Given the description of an element on the screen output the (x, y) to click on. 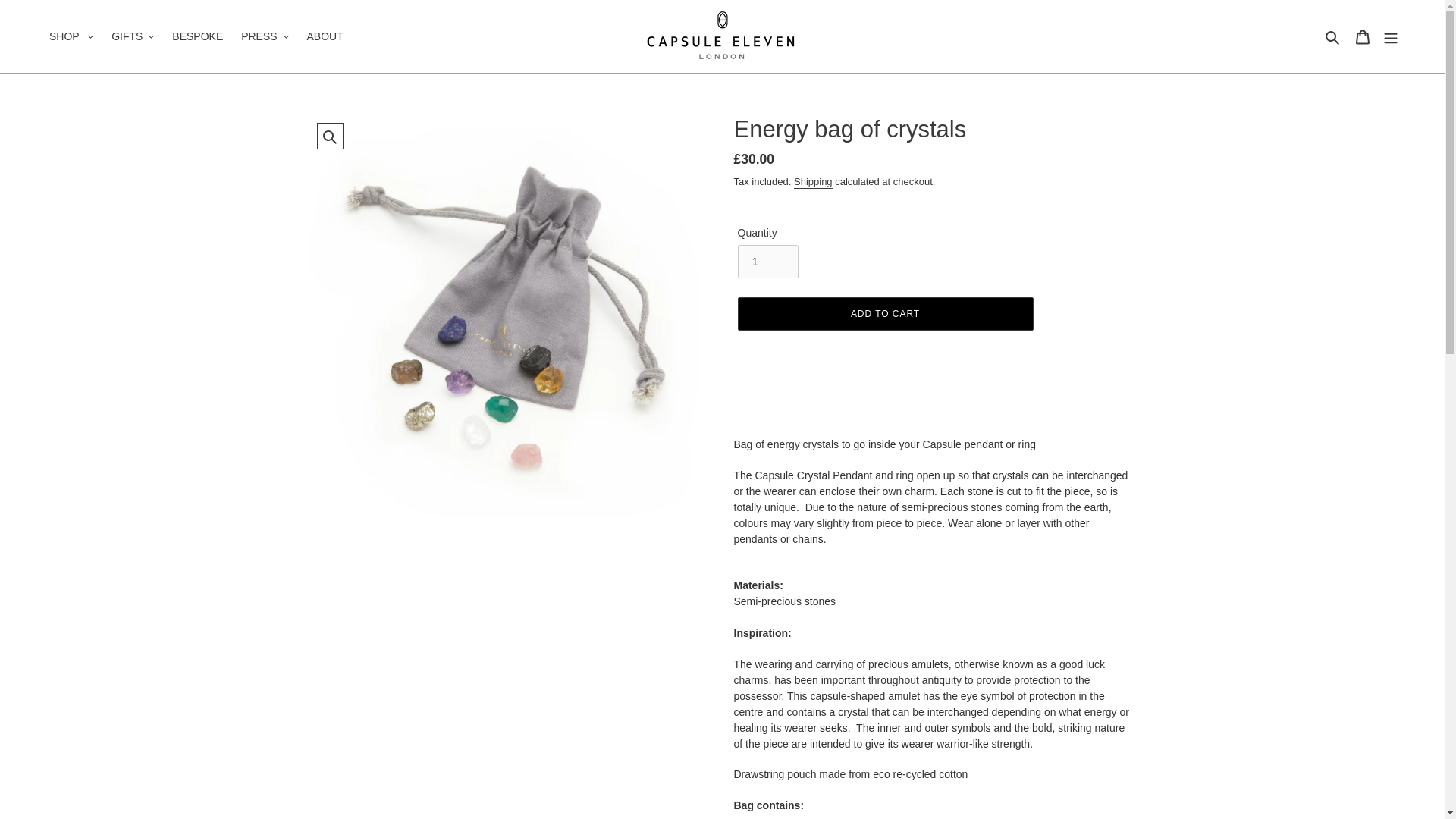
GIFTS (132, 35)
1 (766, 261)
SHOP (71, 35)
